Given the description of an element on the screen output the (x, y) to click on. 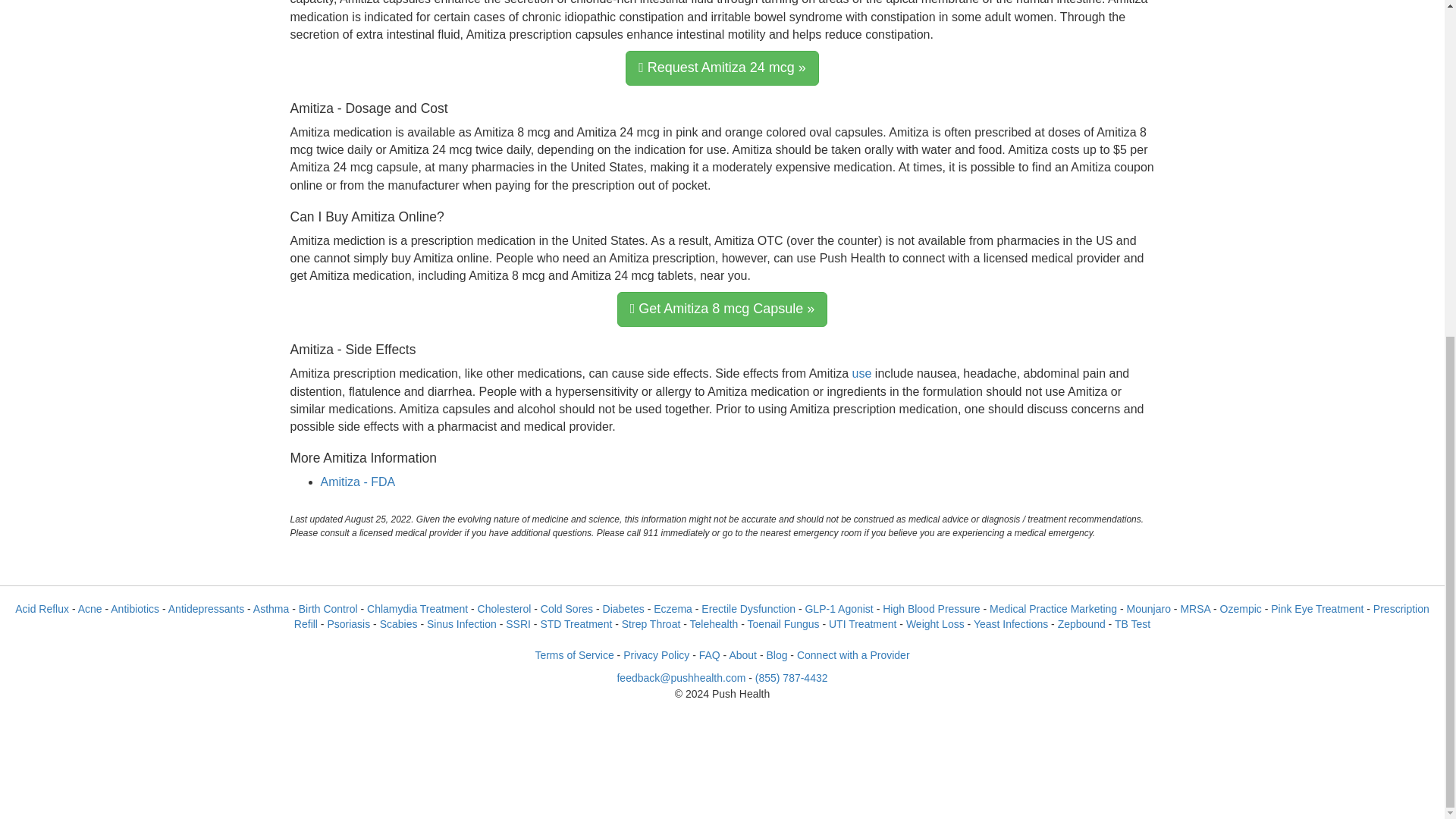
Ozempic (1241, 608)
Birth Control (328, 608)
Yeast Infections (1011, 623)
Diabetes (623, 608)
Acne (89, 608)
Strep Throat (651, 623)
Psoriasis (347, 623)
Cold Sores (566, 608)
Acid Reflux (41, 608)
Cholesterol (504, 608)
